Given the description of an element on the screen output the (x, y) to click on. 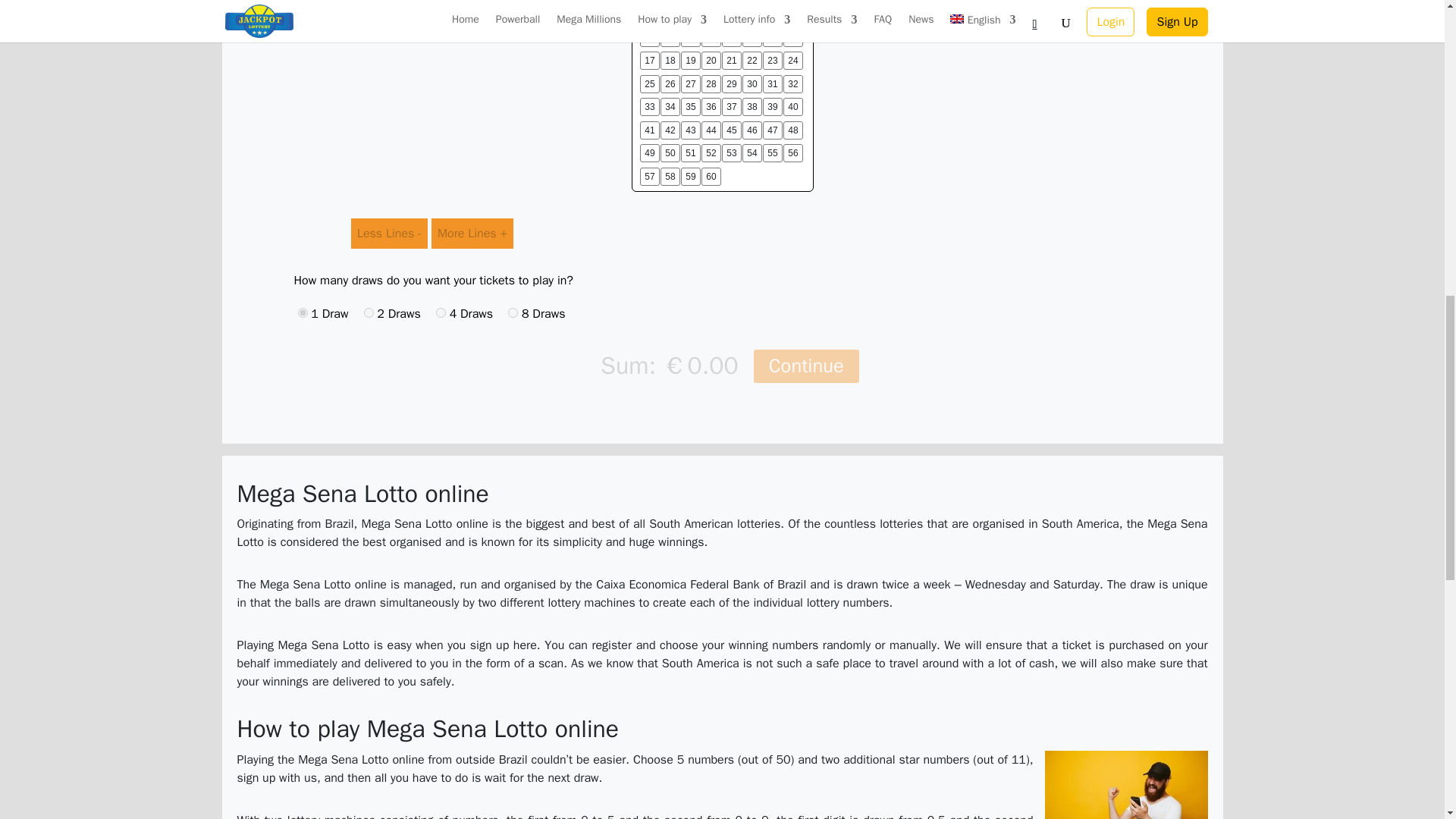
2 (369, 312)
1 (302, 312)
4 (440, 312)
8 (513, 312)
